Given the description of an element on the screen output the (x, y) to click on. 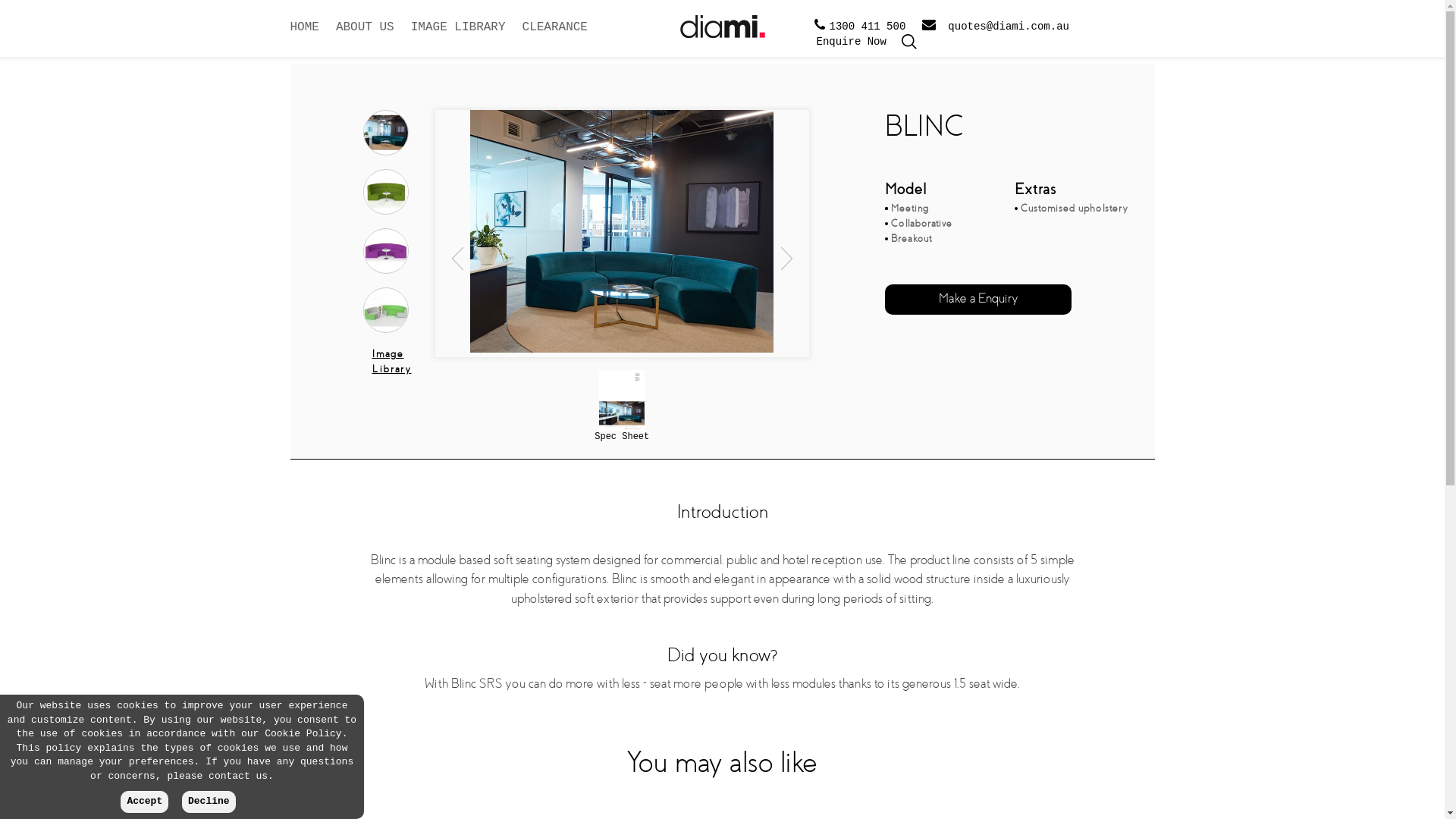
ABOUT US Element type: text (364, 36)
  quotes@diami.com.au Element type: text (995, 26)
1300 411 500 Element type: text (859, 26)
HOME Element type: text (303, 36)
Image Library Element type: text (399, 369)
Previous Element type: text (463, 233)
Spec Sheet Element type: text (621, 436)
CLEARANCE Element type: text (554, 36)
Make a Enquiry Element type: text (977, 297)
IMAGE LIBRARY Element type: text (458, 36)
Accept Element type: text (144, 801)
Enquire Now Element type: text (850, 41)
Next Element type: text (781, 233)
Decline Element type: text (208, 801)
